Given the description of an element on the screen output the (x, y) to click on. 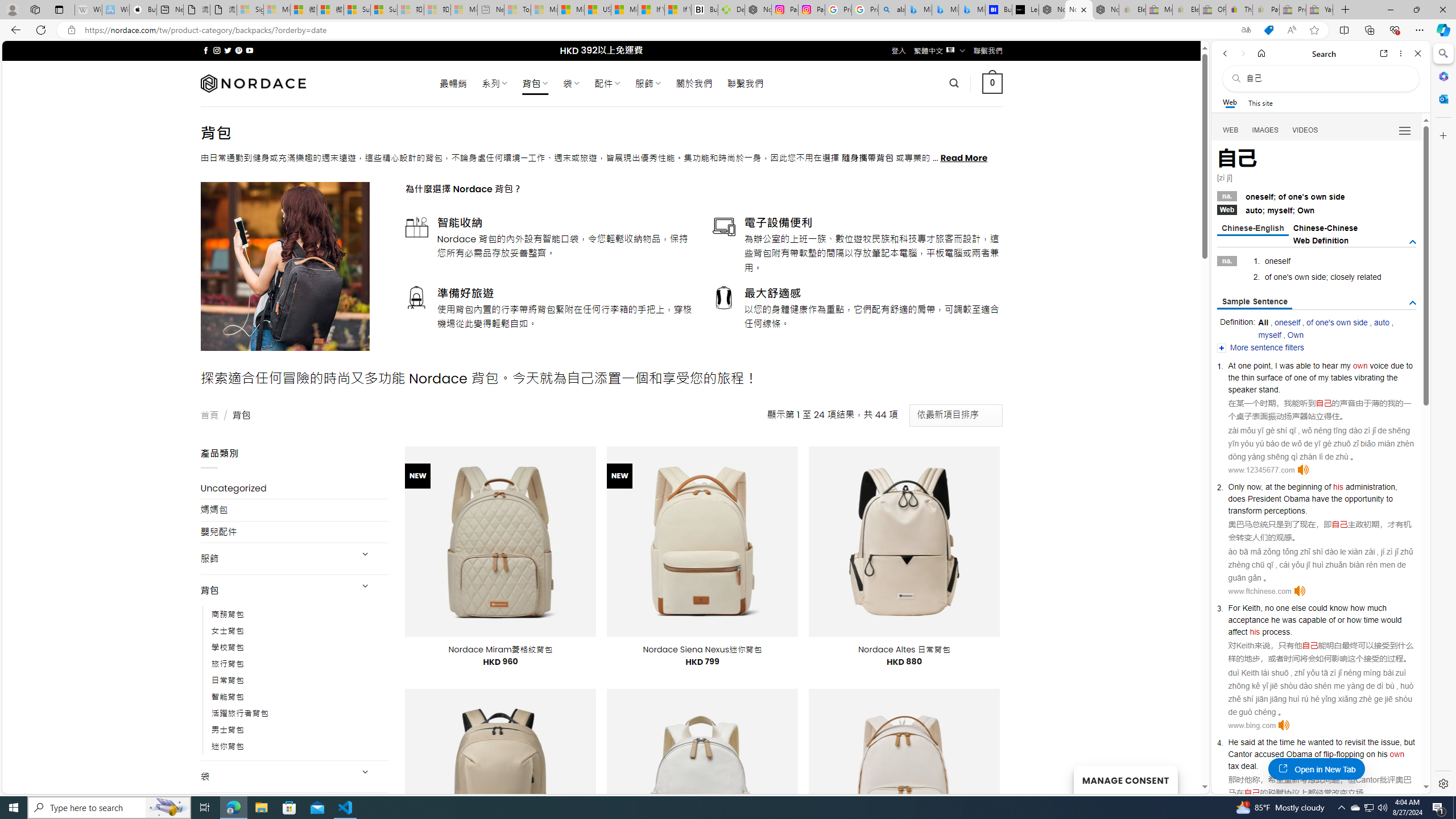
Webauto; myself; Own (1316, 209)
surface (1269, 377)
Top Stories - MSN - Sleeping (517, 9)
Follow on Instagram (216, 50)
voice (1379, 365)
myself (1269, 334)
issue (1389, 741)
